Given the description of an element on the screen output the (x, y) to click on. 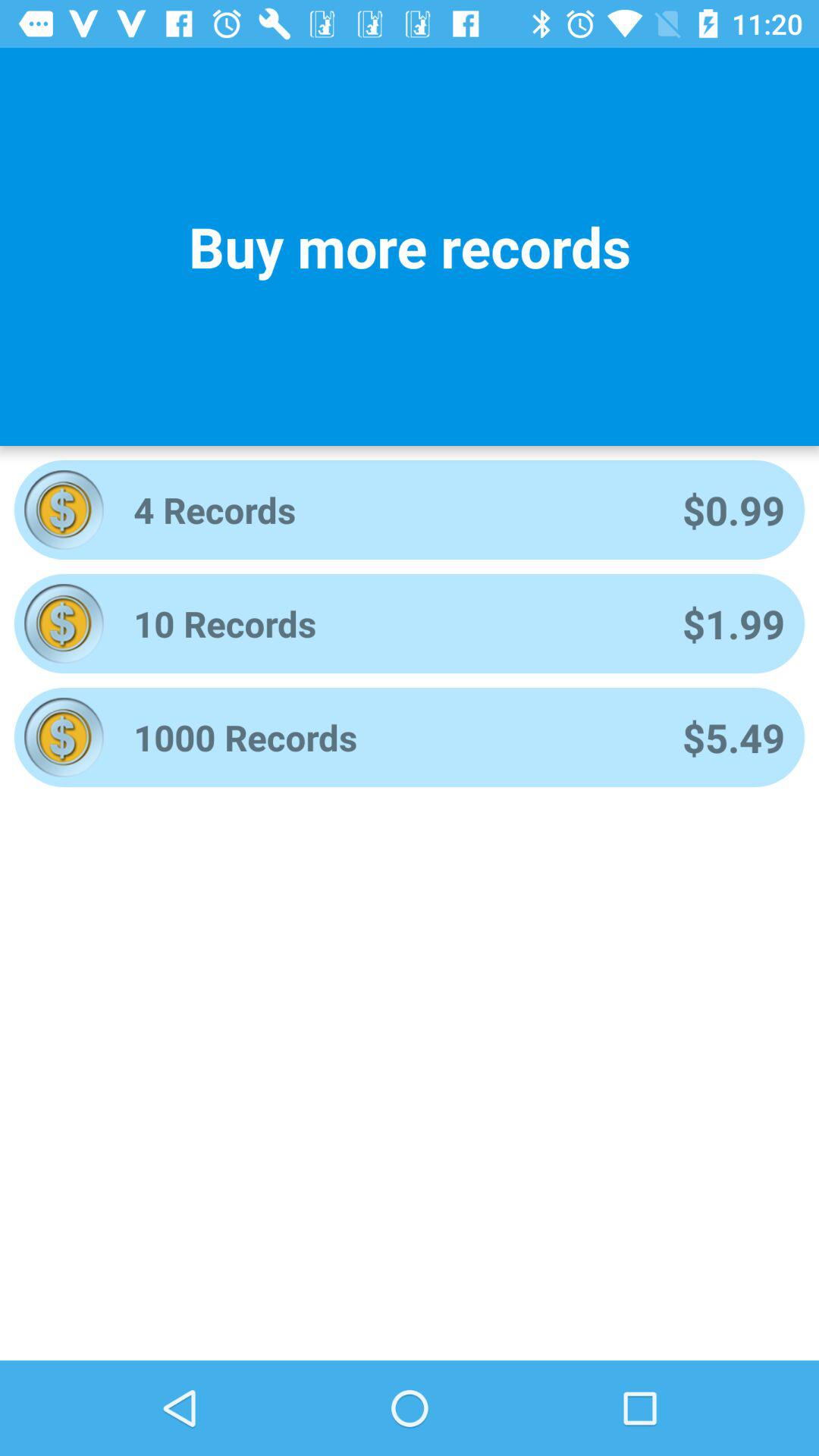
choose the icon to the right of 1000 records (733, 737)
